Given the description of an element on the screen output the (x, y) to click on. 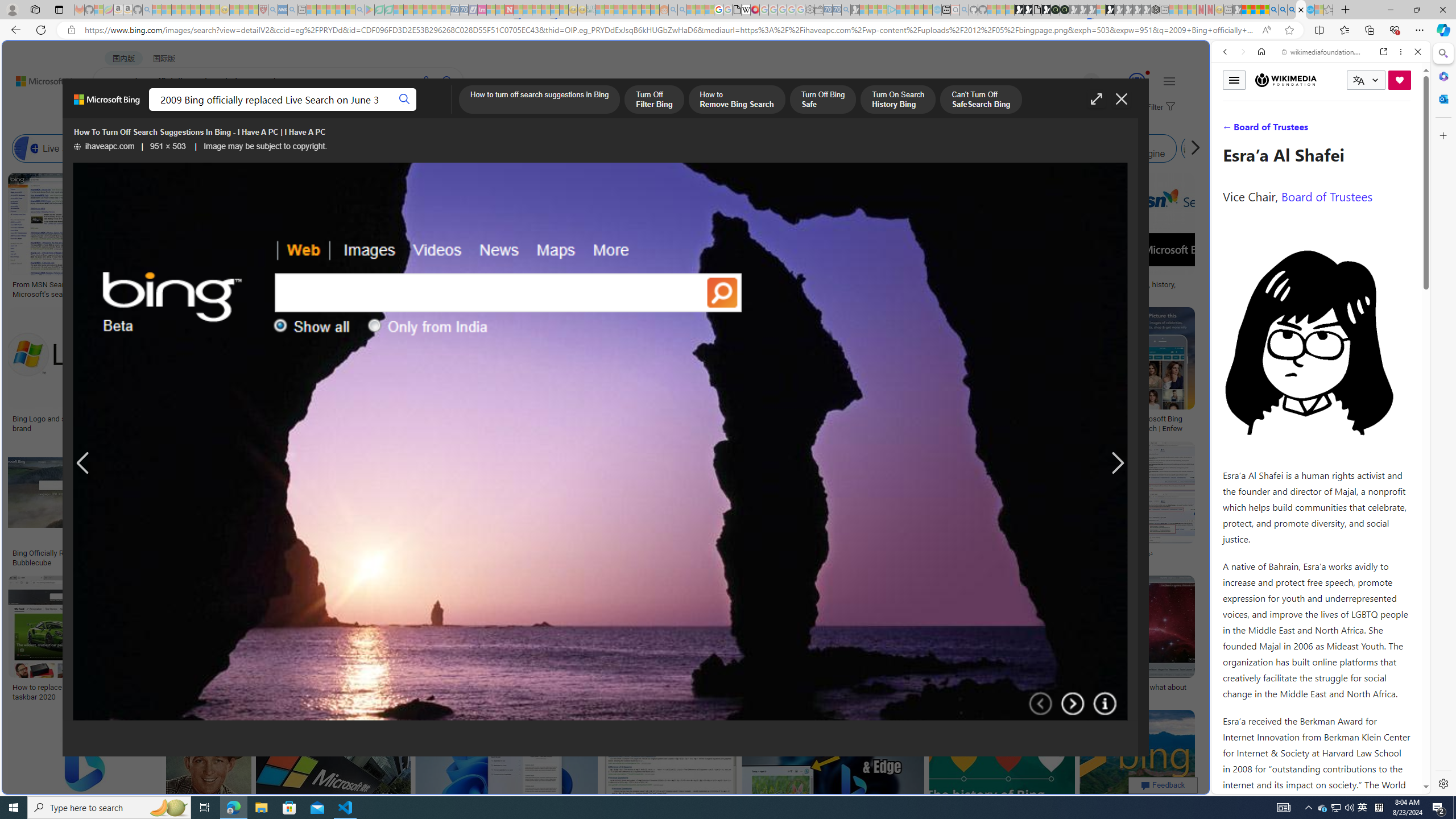
Latest Politics News & Archive | Newsweek.com - Sleeping (508, 9)
Cheap Hotels - Save70.com - Sleeping (463, 9)
microsoft bingSave (1045, 371)
How to replace Bing in Windows 10 search on the taskbar 2020 (93, 691)
